Given the description of an element on the screen output the (x, y) to click on. 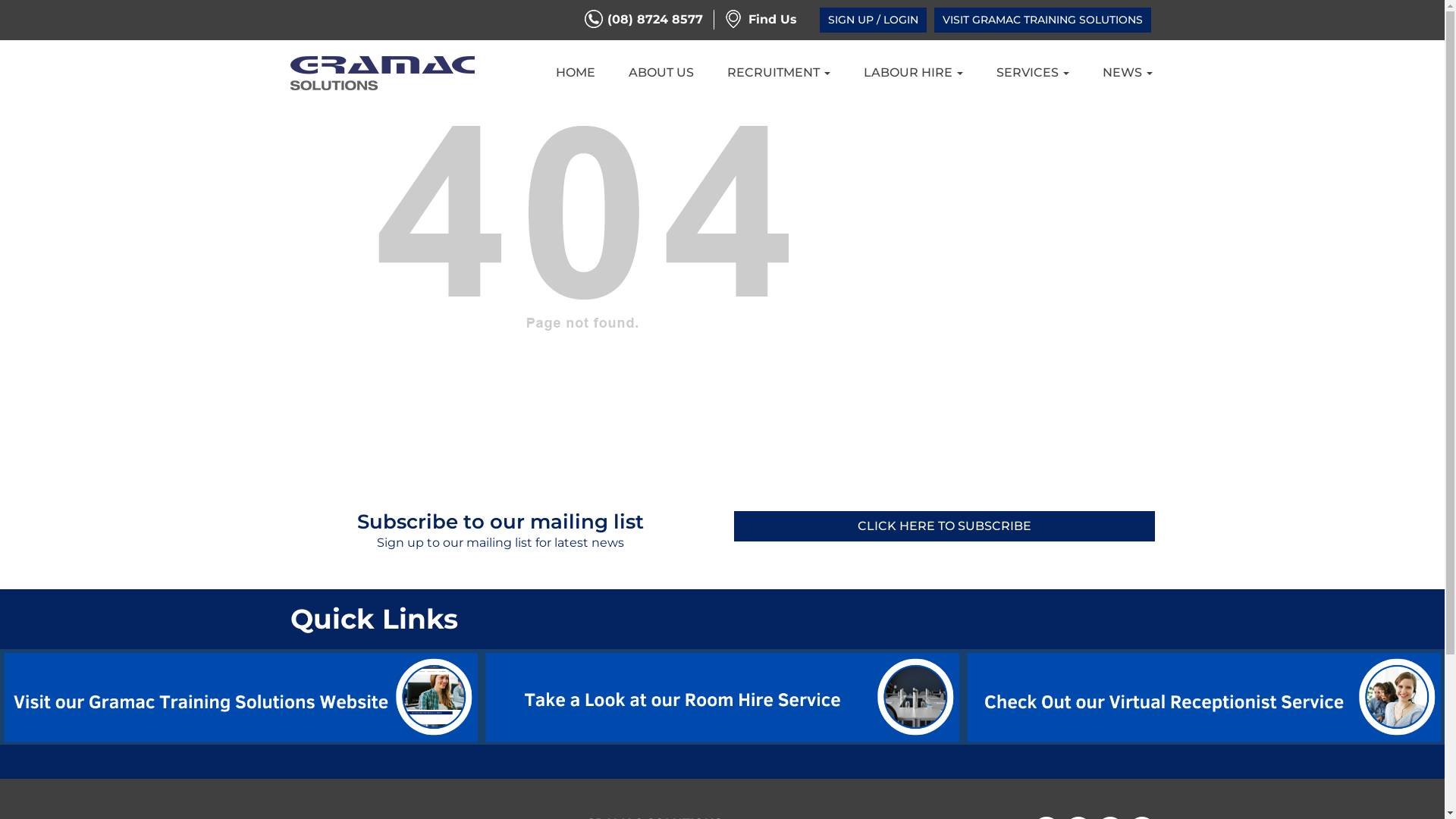
CLICK HERE TO SUBSCRIBE Element type: text (944, 526)
NEWS Element type: text (1126, 72)
ABOUT US Element type: text (661, 72)
SIGN UP / LOGIN Element type: text (872, 19)
(08) 8724 8577 Element type: text (642, 19)
VISIT GRAMAC TRAINING SOLUTIONS Element type: text (1042, 19)
LABOUR HIRE Element type: text (913, 72)
Find Us Element type: text (760, 19)
HOME Element type: text (575, 72)
RECRUITMENT Element type: text (778, 72)
SERVICES Element type: text (1031, 72)
